Given the description of an element on the screen output the (x, y) to click on. 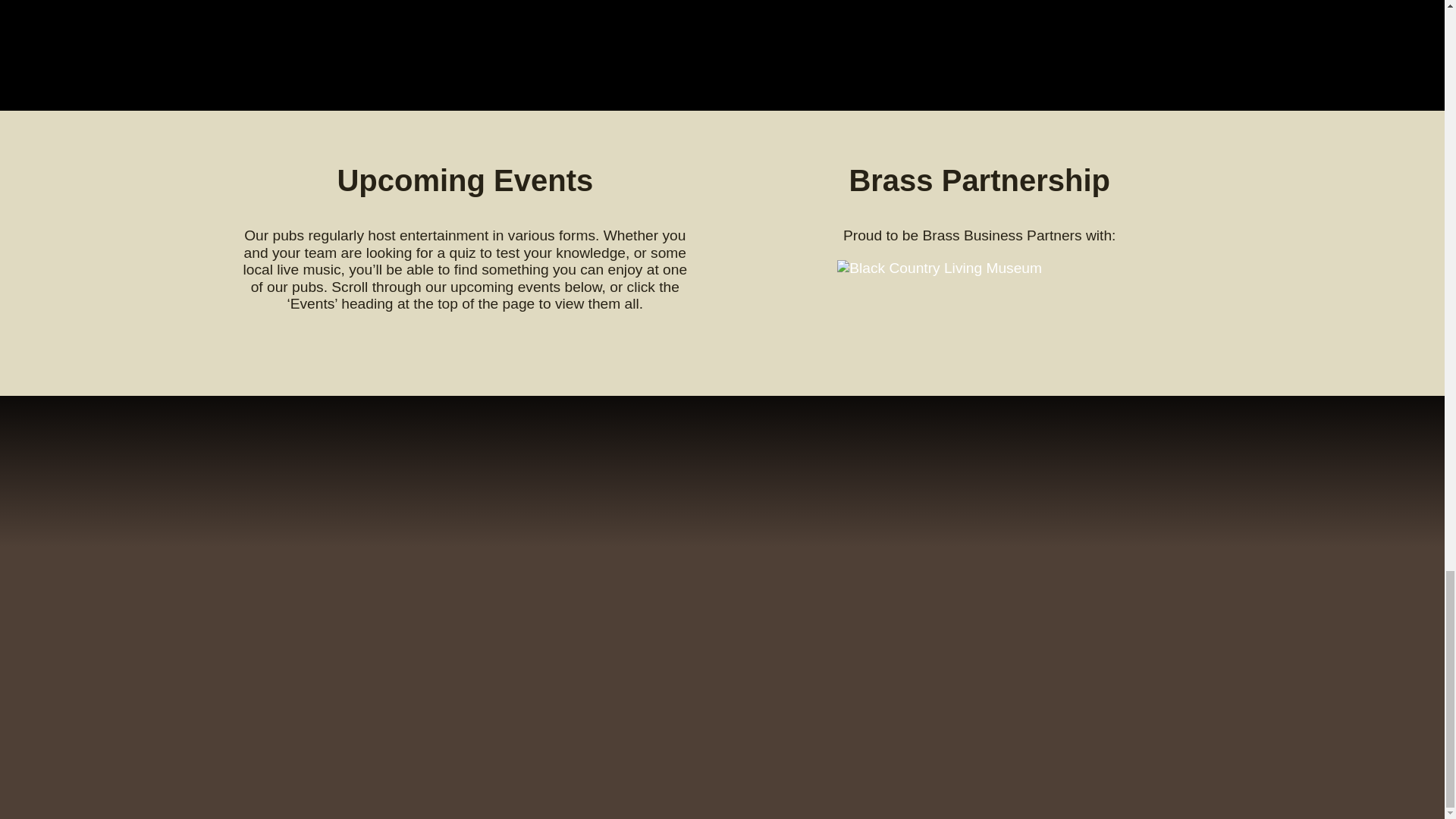
Black Country Living Museum (979, 268)
